Given the description of an element on the screen output the (x, y) to click on. 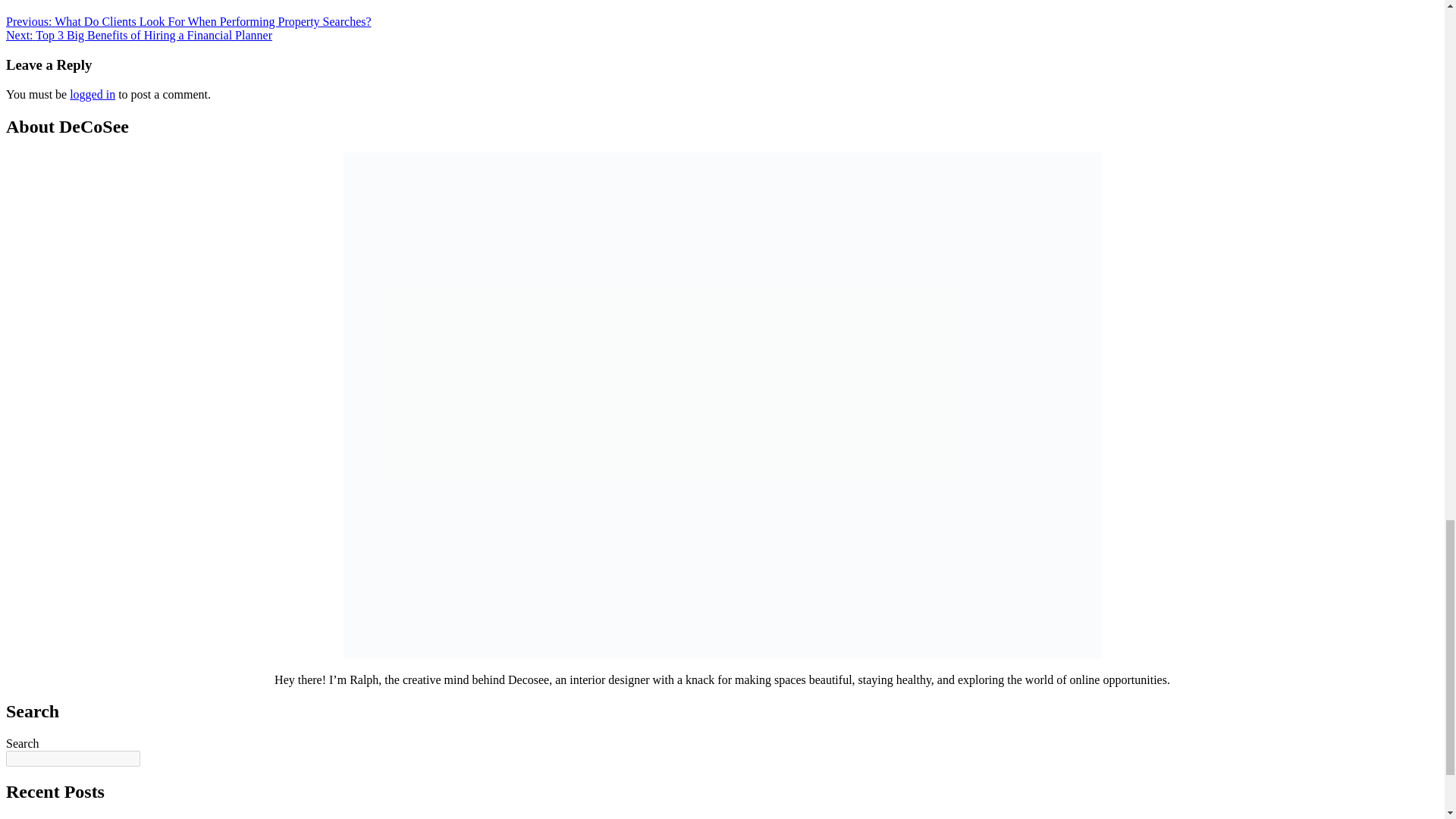
logged in (92, 93)
Next: Top 3 Big Benefits of Hiring a Financial Planner (138, 34)
